Given the description of an element on the screen output the (x, y) to click on. 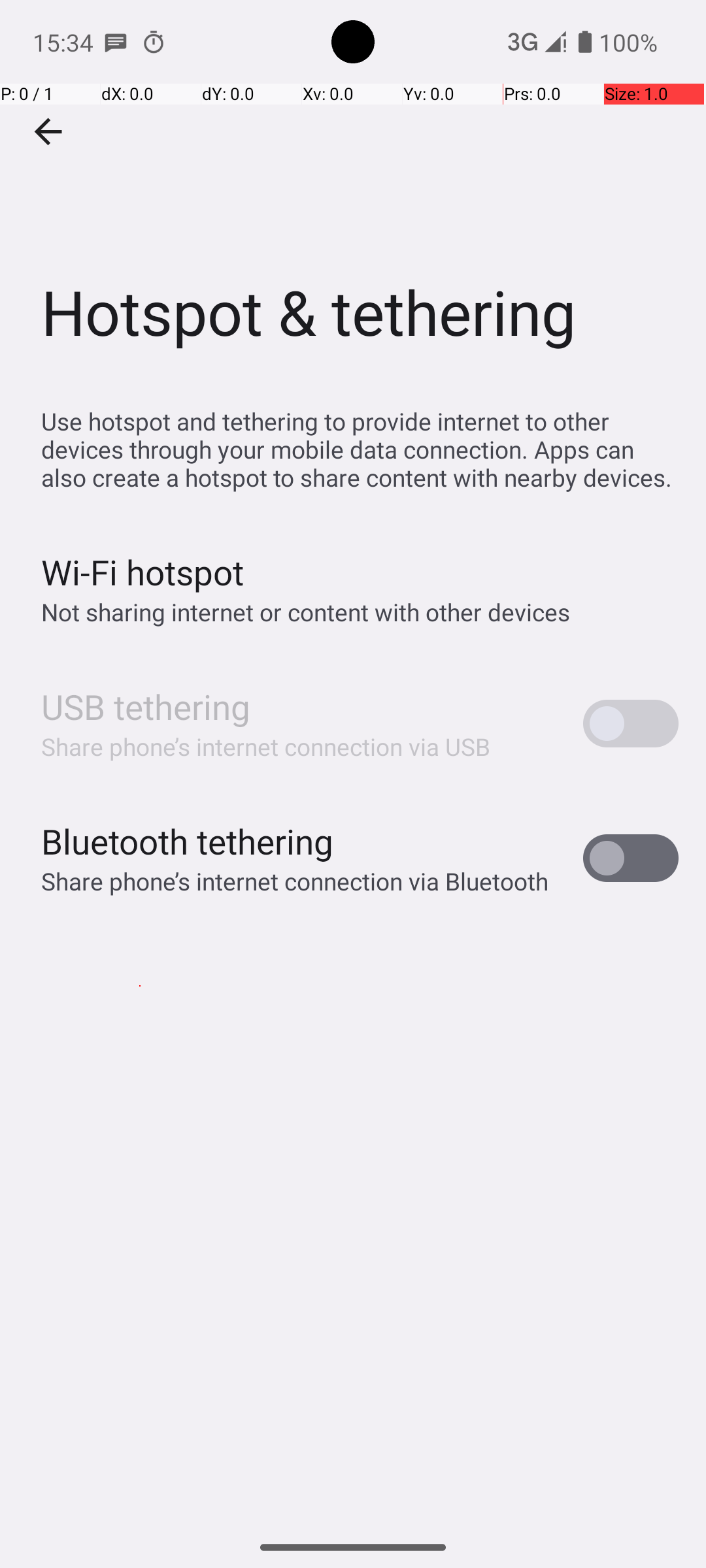
Use hotspot and tethering to provide internet to other devices through your mobile data connection. Apps can also create a hotspot to share content with nearby devices. Element type: android.widget.TextView (359, 448)
Wi‑Fi hotspot Element type: android.widget.TextView (142, 571)
Not sharing internet or content with other devices Element type: android.widget.TextView (305, 611)
USB tethering Element type: android.widget.TextView (145, 706)
Share phone’s internet connection via USB Element type: android.widget.TextView (265, 746)
Bluetooth tethering Element type: android.widget.TextView (187, 840)
Share phone’s internet connection via Bluetooth Element type: android.widget.TextView (294, 880)
